Given the description of an element on the screen output the (x, y) to click on. 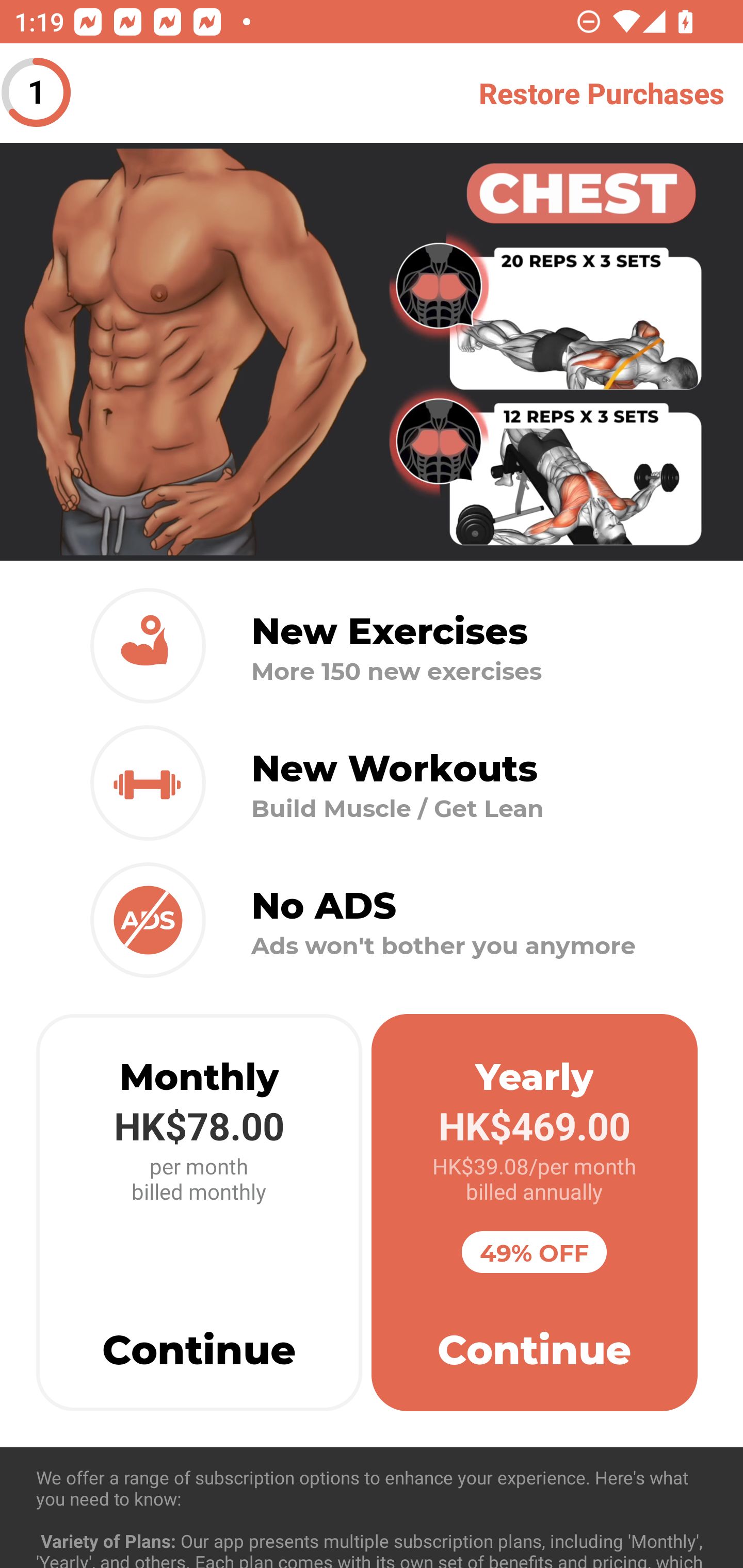
Restore Purchases (601, 92)
Monthly HK$78.00 per month
billed monthly Continue (199, 1212)
